Given the description of an element on the screen output the (x, y) to click on. 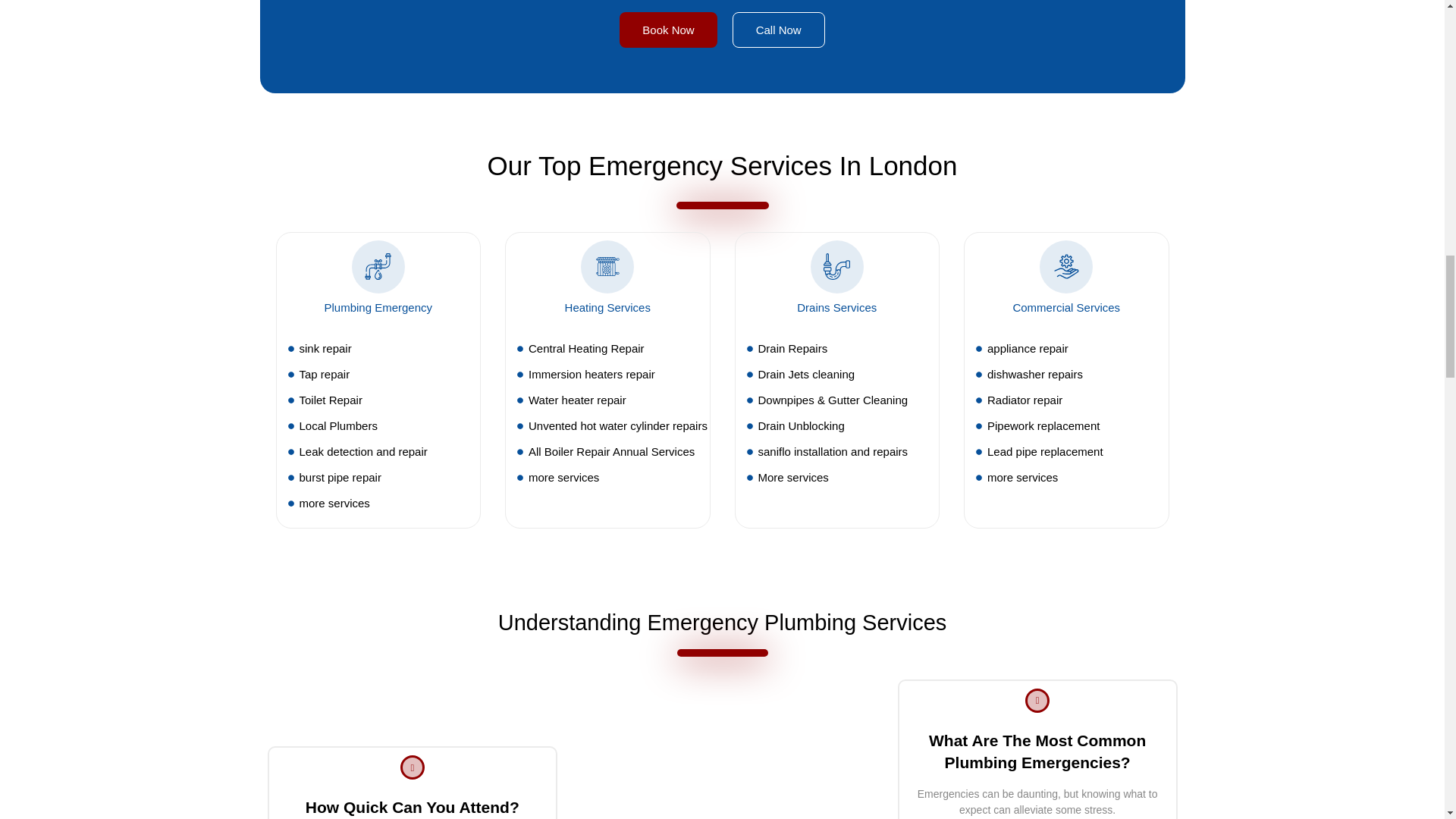
Home-new 2 (727, 797)
